Given the description of an element on the screen output the (x, y) to click on. 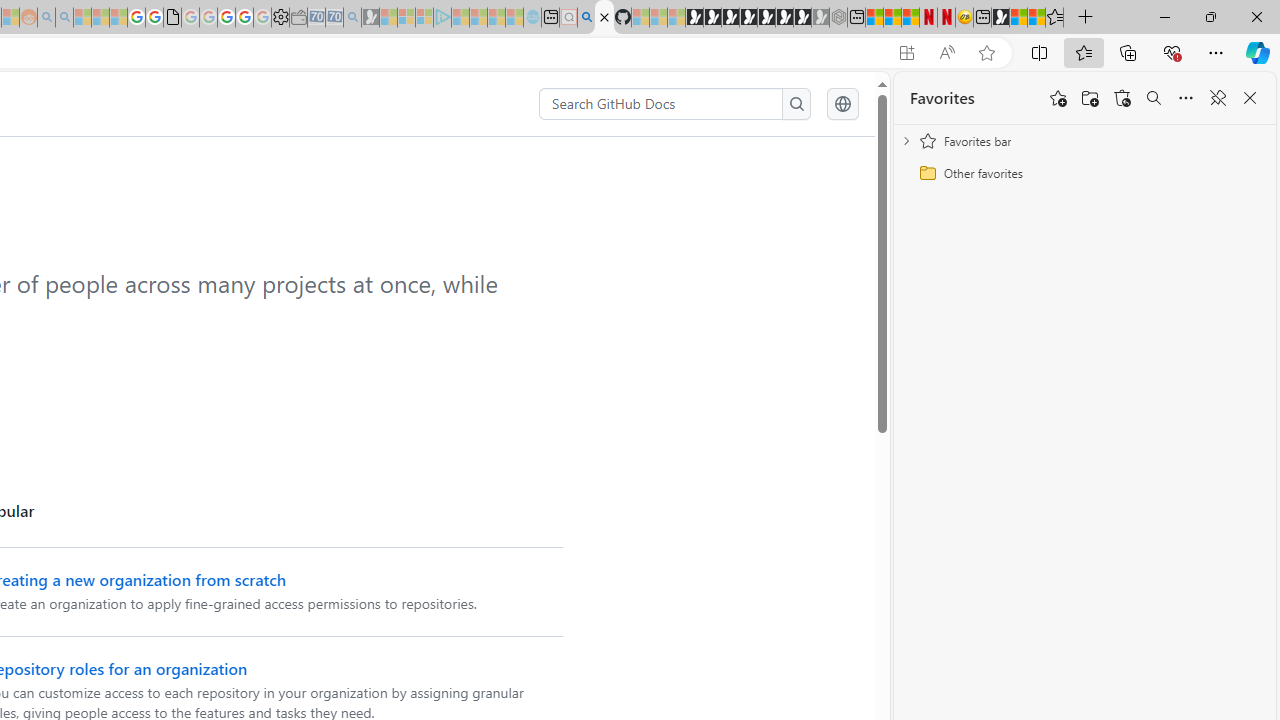
Search GitHub Docs (661, 103)
Close favorites (1250, 98)
Wildlife - MSN (1017, 17)
github - Search (586, 17)
